Given the description of an element on the screen output the (x, y) to click on. 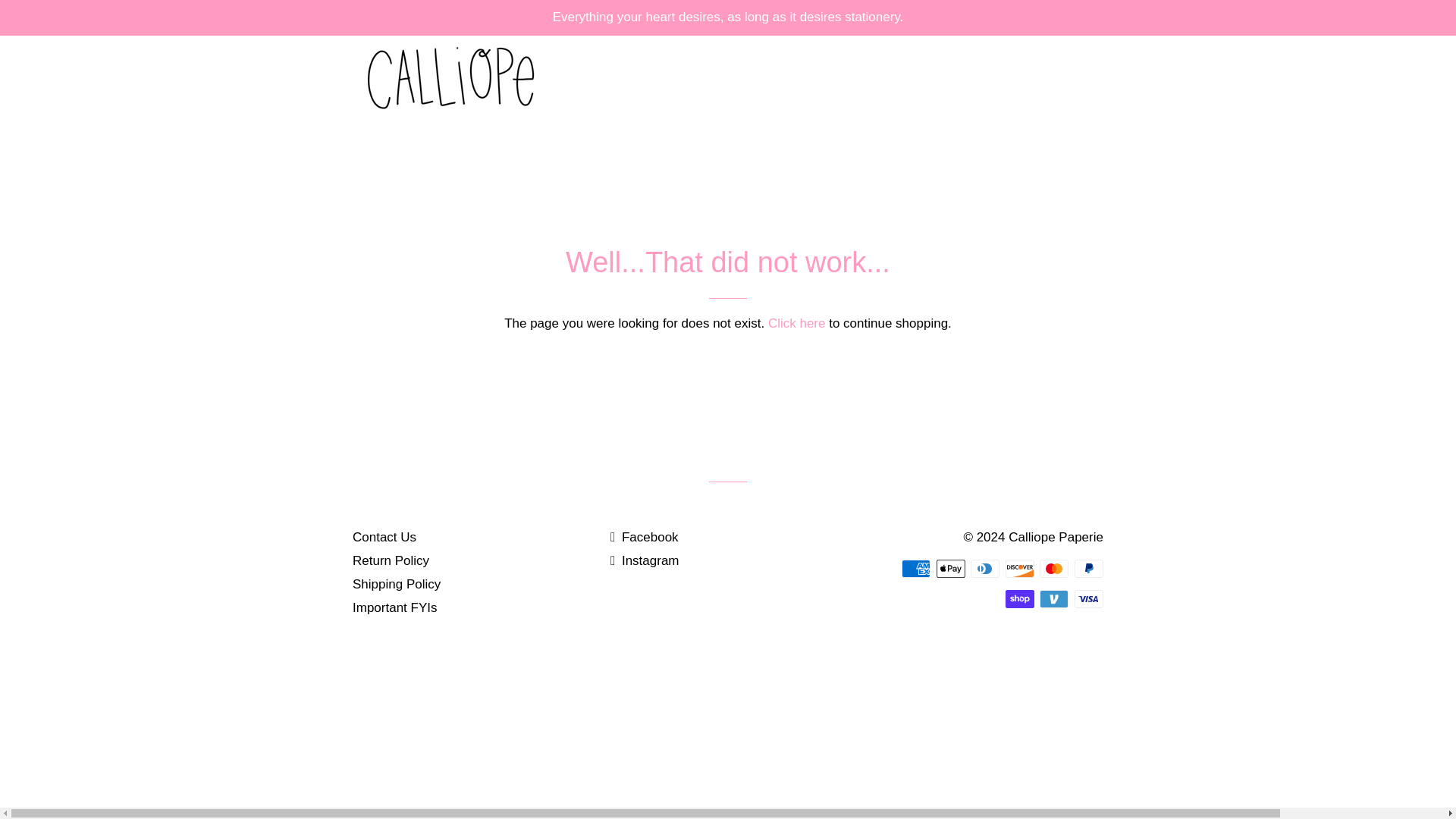
Diners Club (984, 568)
Shop Pay (1019, 598)
Visa (1088, 598)
Venmo (1053, 598)
PayPal (1088, 568)
Mastercard (1053, 568)
Discover (1019, 568)
Calliope Paperie on Facebook (644, 536)
American Express (915, 568)
Apple Pay (950, 568)
Calliope Paperie on Instagram (644, 560)
